Given the description of an element on the screen output the (x, y) to click on. 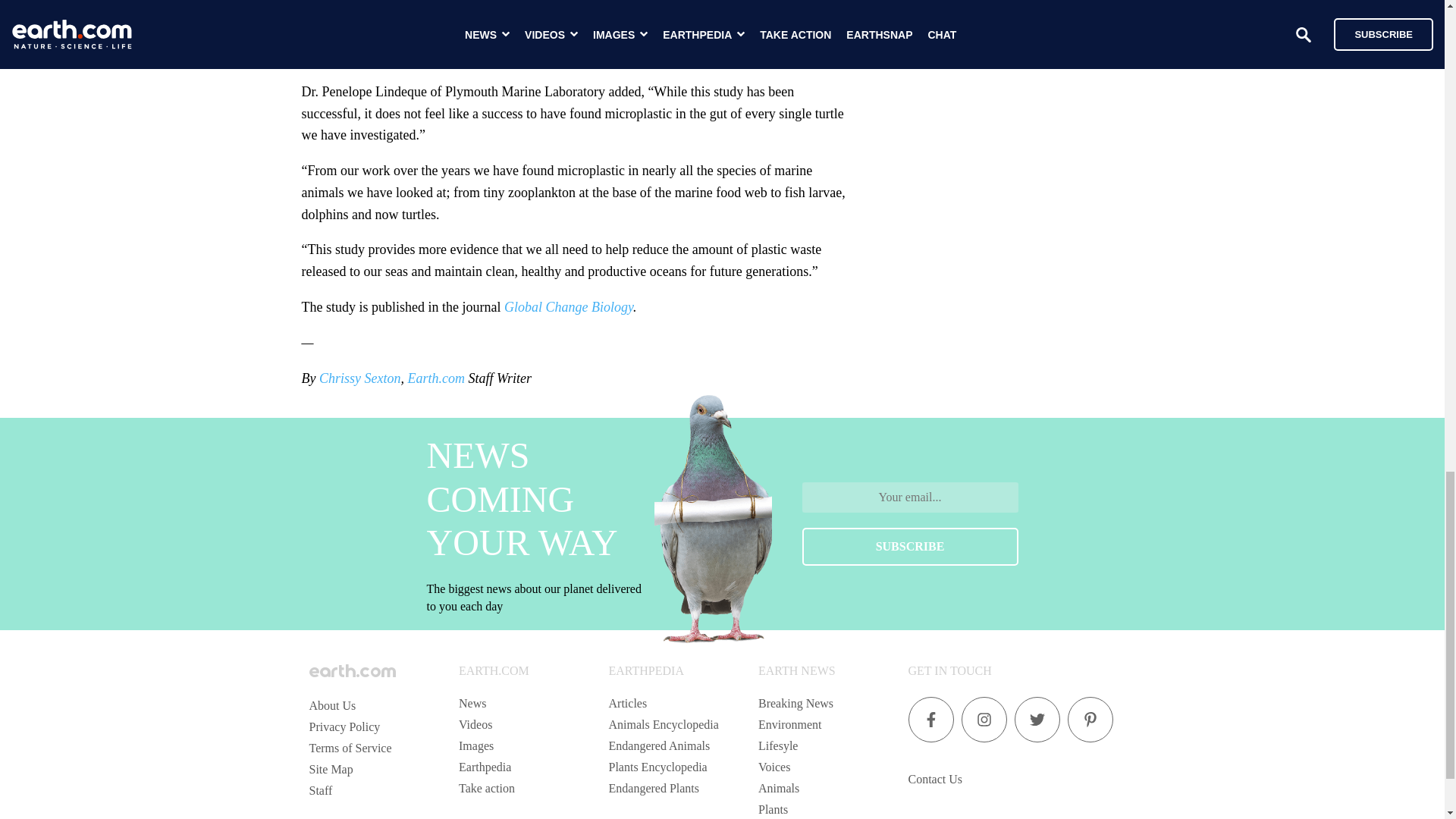
Global Change Biology (568, 306)
Earth.com (435, 378)
Chrissy Sexton (359, 378)
SUBSCRIBE (909, 546)
